Given the description of an element on the screen output the (x, y) to click on. 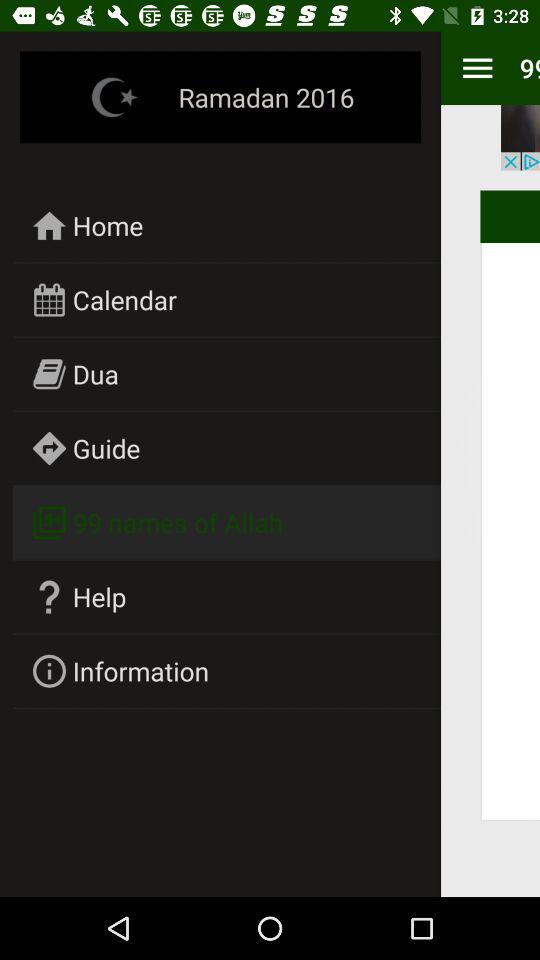
launch icon above calendar icon (108, 225)
